Given the description of an element on the screen output the (x, y) to click on. 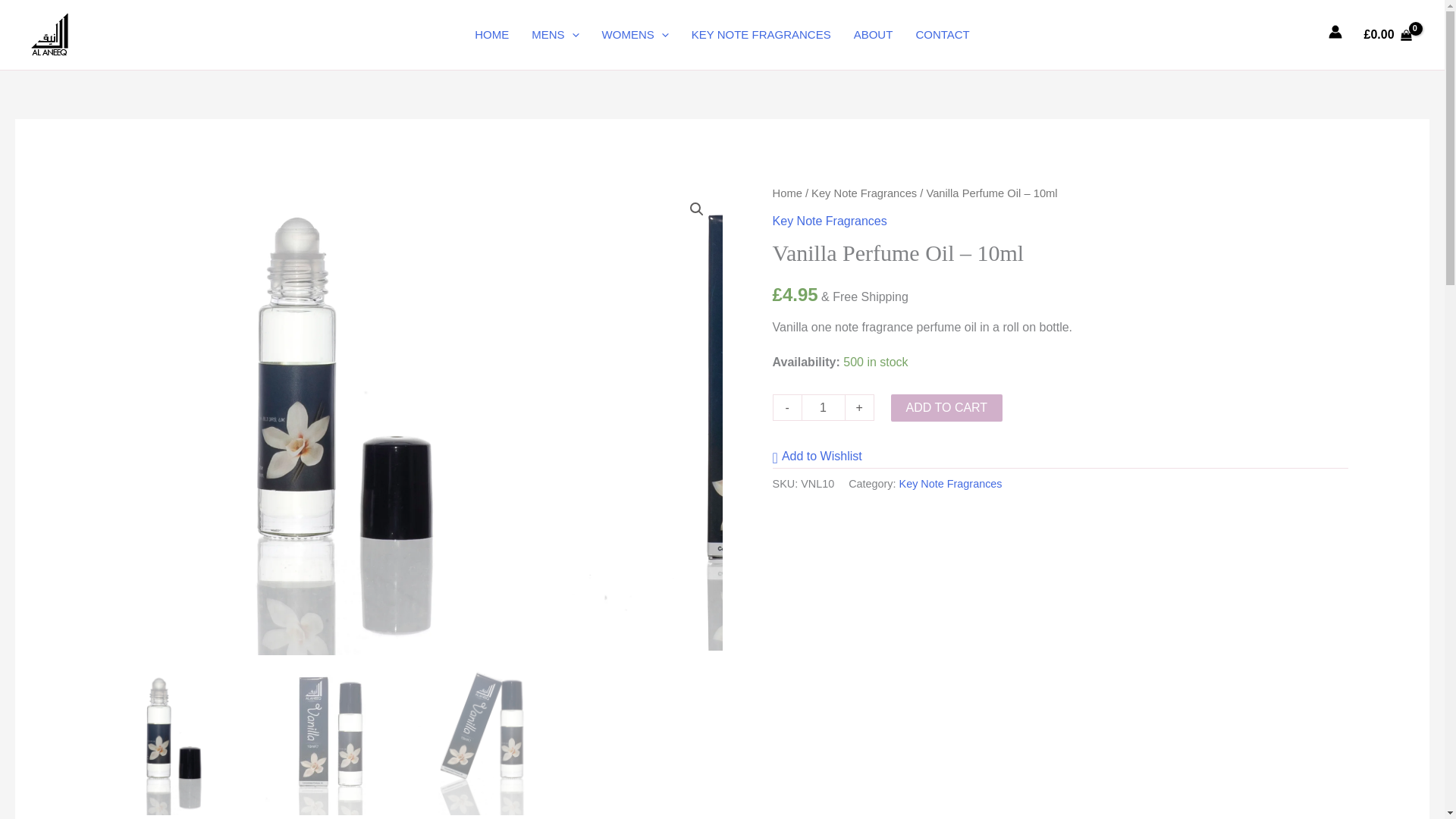
CONTACT (941, 34)
ABOUT (873, 34)
MENS (554, 34)
HOME (491, 34)
1 (823, 406)
Home (787, 193)
Key Note Fragrances (863, 193)
KEY NOTE FRAGRANCES (761, 34)
WOMENS (635, 34)
